Given the description of an element on the screen output the (x, y) to click on. 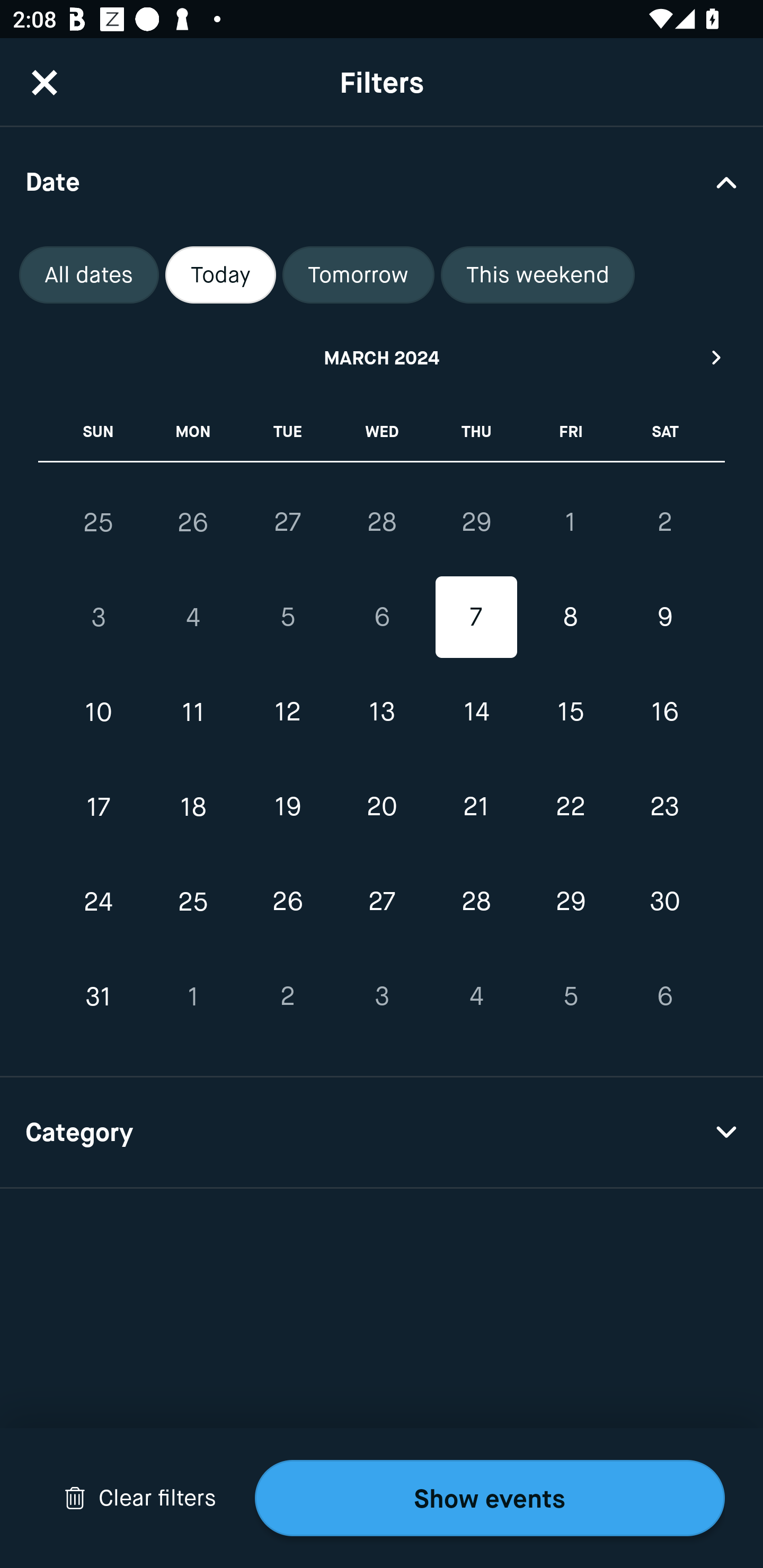
CloseButton (44, 82)
Date Drop Down Arrow (381, 181)
All dates (88, 274)
Today (220, 274)
Tomorrow (358, 274)
This weekend (537, 274)
Next (717, 357)
25 (98, 522)
26 (192, 522)
27 (287, 522)
28 (381, 522)
29 (475, 522)
1 (570, 522)
2 (664, 522)
3 (98, 617)
4 (192, 617)
5 (287, 617)
6 (381, 617)
7 (475, 617)
8 (570, 617)
9 (664, 617)
10 (98, 711)
11 (192, 711)
12 (287, 711)
13 (381, 711)
14 (475, 711)
15 (570, 711)
16 (664, 711)
17 (98, 806)
18 (192, 806)
19 (287, 806)
20 (381, 806)
21 (475, 806)
22 (570, 806)
23 (664, 806)
24 (98, 901)
25 (192, 901)
26 (287, 901)
27 (381, 901)
28 (475, 901)
29 (570, 901)
30 (664, 901)
31 (98, 996)
1 (192, 996)
2 (287, 996)
3 (381, 996)
4 (475, 996)
5 (570, 996)
6 (664, 996)
Category Drop Down Arrow (381, 1132)
Drop Down Arrow Clear filters (139, 1497)
Show events (489, 1497)
